Given the description of an element on the screen output the (x, y) to click on. 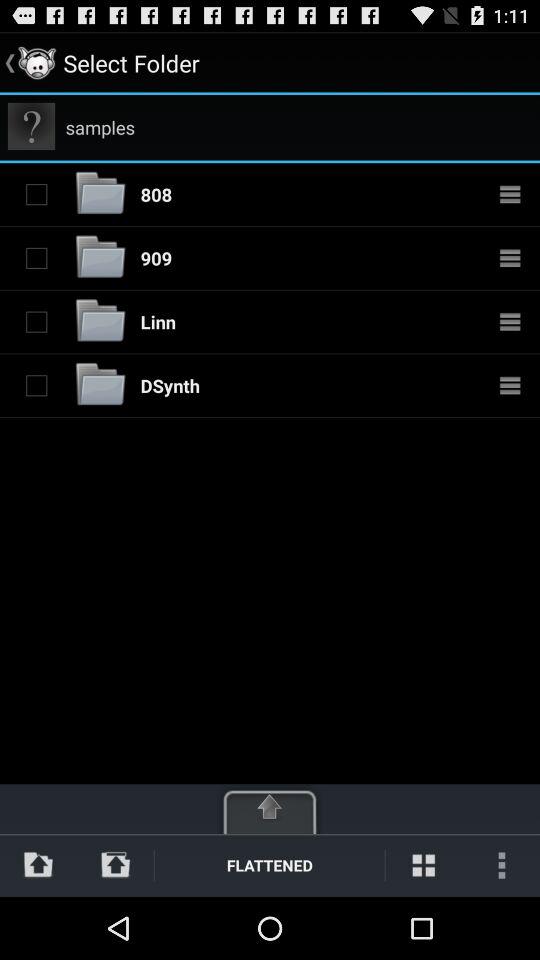
select folder (36, 321)
